Given the description of an element on the screen output the (x, y) to click on. 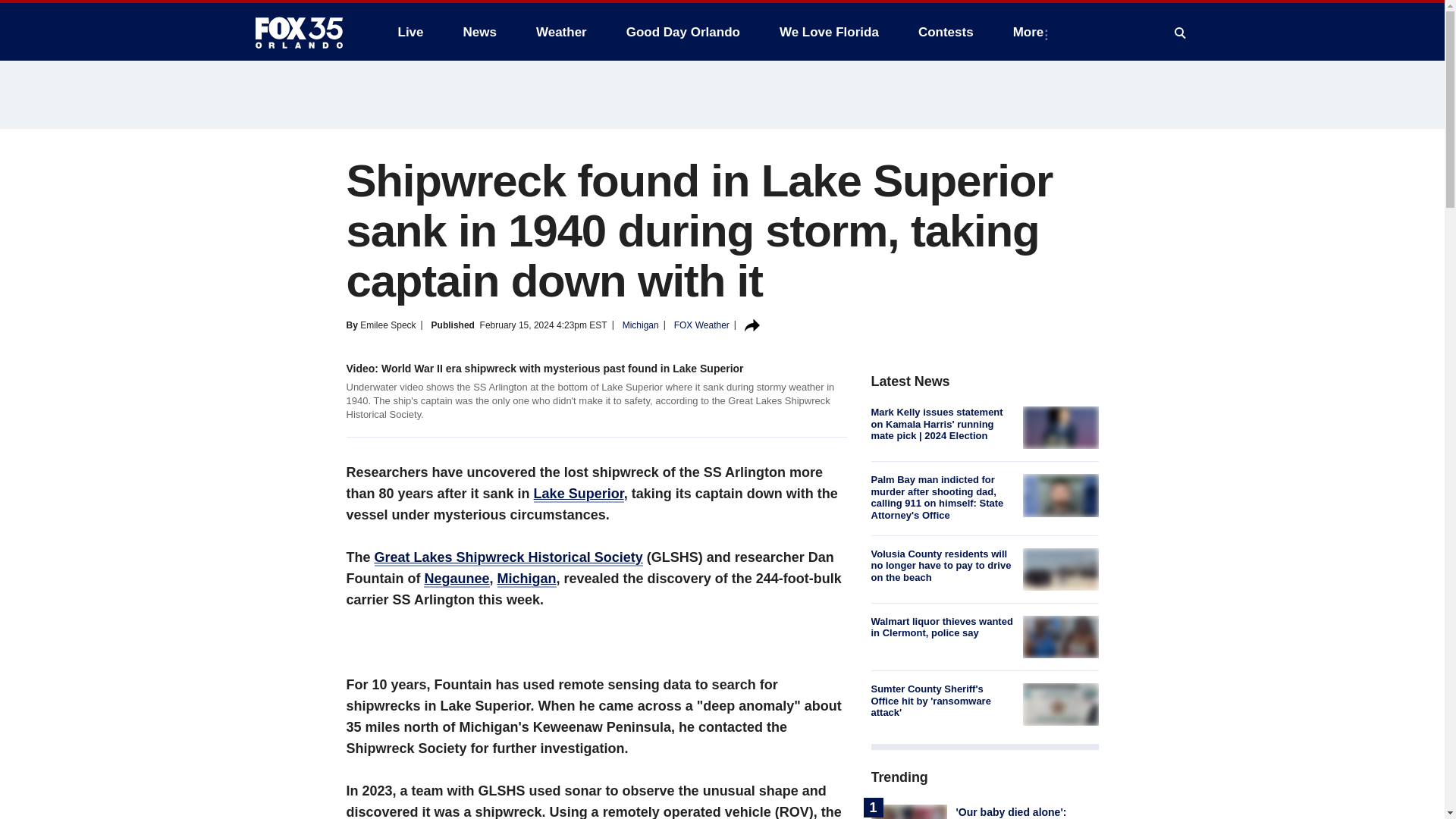
Contests (945, 32)
News (479, 32)
More (1031, 32)
We Love Florida (829, 32)
Good Day Orlando (683, 32)
Live (410, 32)
Weather (561, 32)
